Given the description of an element on the screen output the (x, y) to click on. 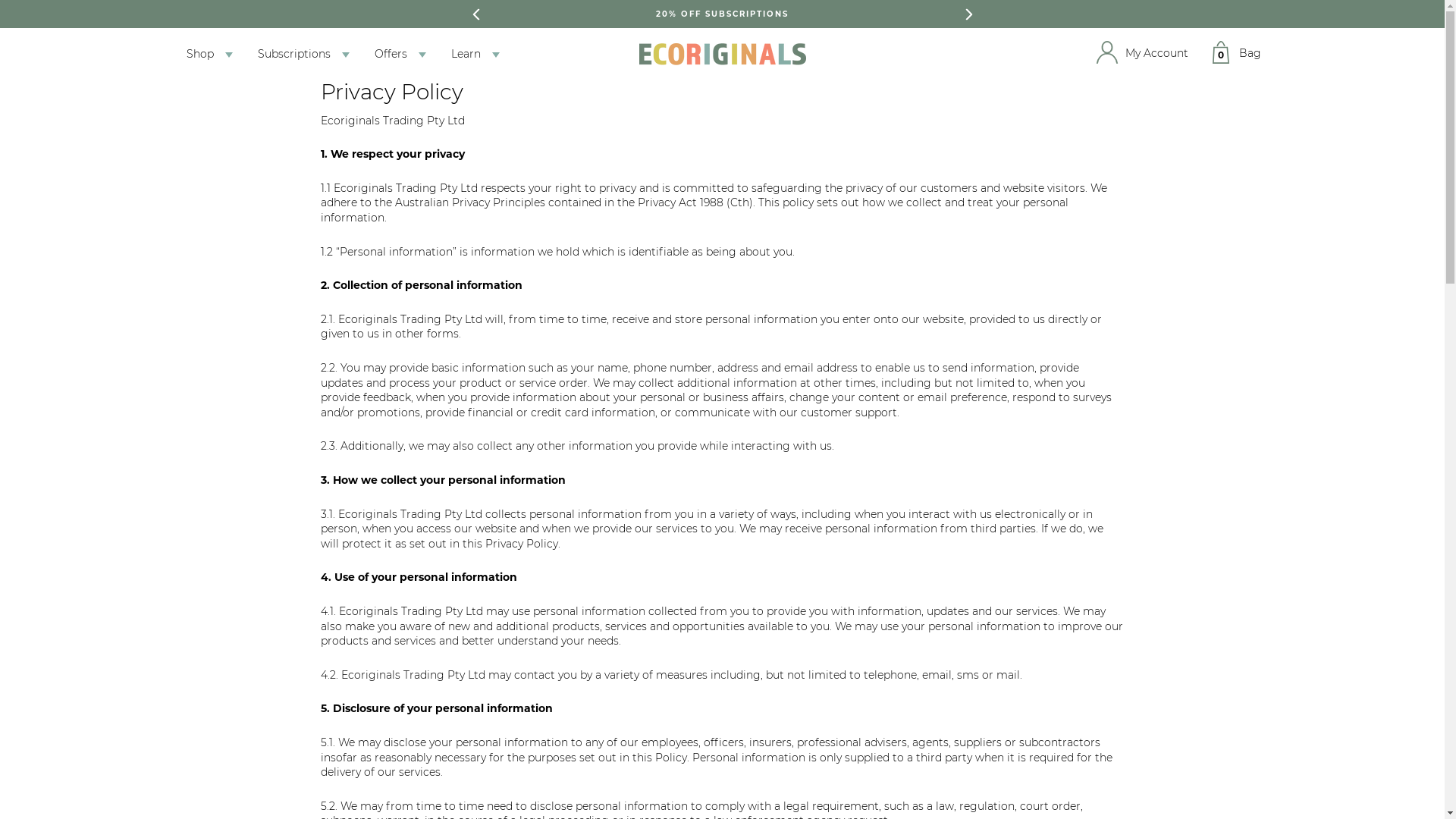
Skip to content Element type: text (0, 0)
Previous Element type: text (475, 13)
Shop Element type: text (199, 53)
Next Element type: text (968, 13)
50% OFF ECORIGINALS TRIAL PACK Element type: text (721, 13)
Offers Element type: text (389, 53)
Subscriptions Element type: text (293, 53)
Learn Element type: text (465, 53)
